Given the description of an element on the screen output the (x, y) to click on. 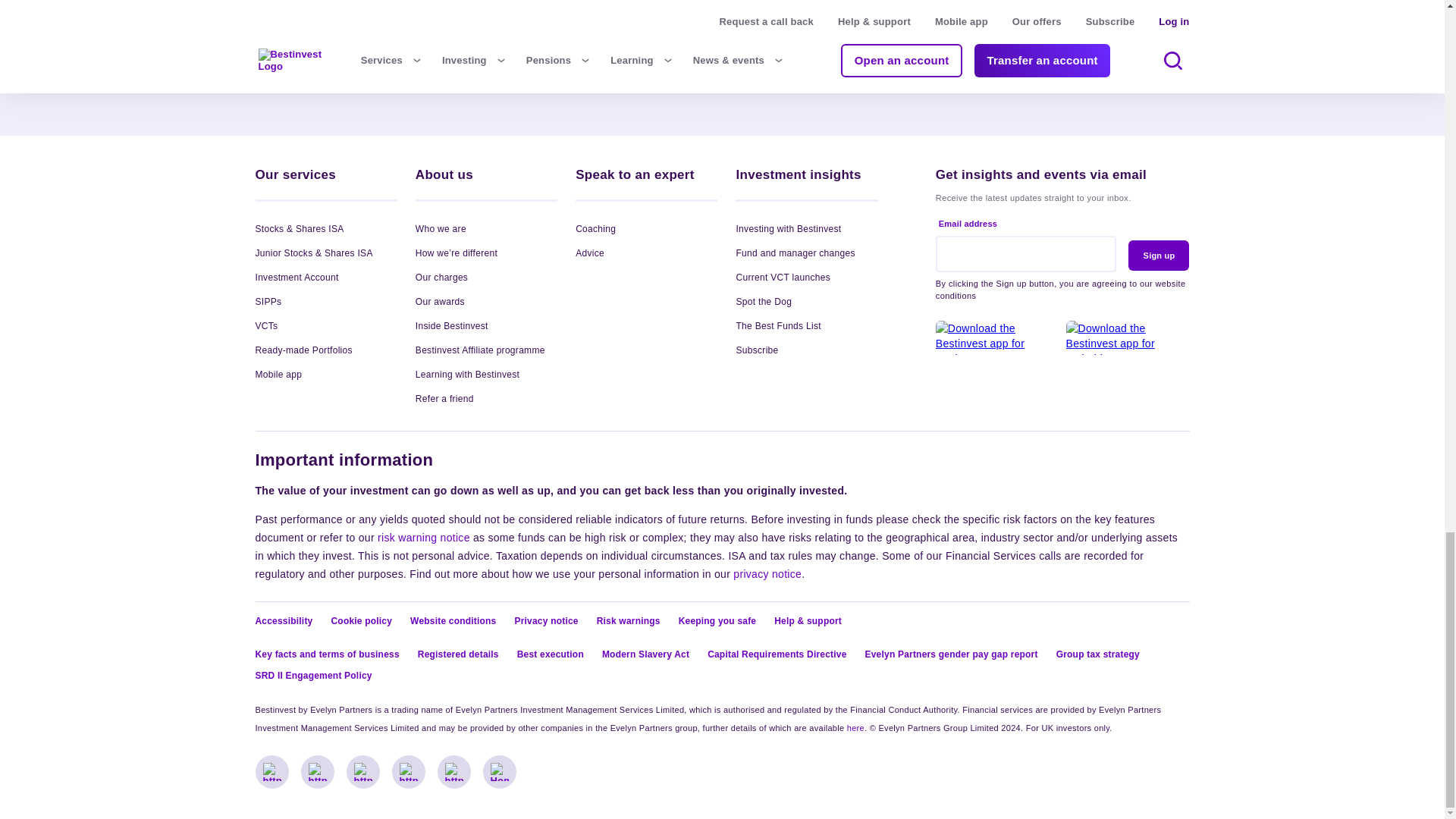
Privacy notice (767, 573)
What can an investment Coach do for your portfolio? (366, 12)
GQG Partners funds update with Brian Kersmanc (603, 12)
Registered details (855, 727)
How green is your pension? (839, 2)
